Given the description of an element on the screen output the (x, y) to click on. 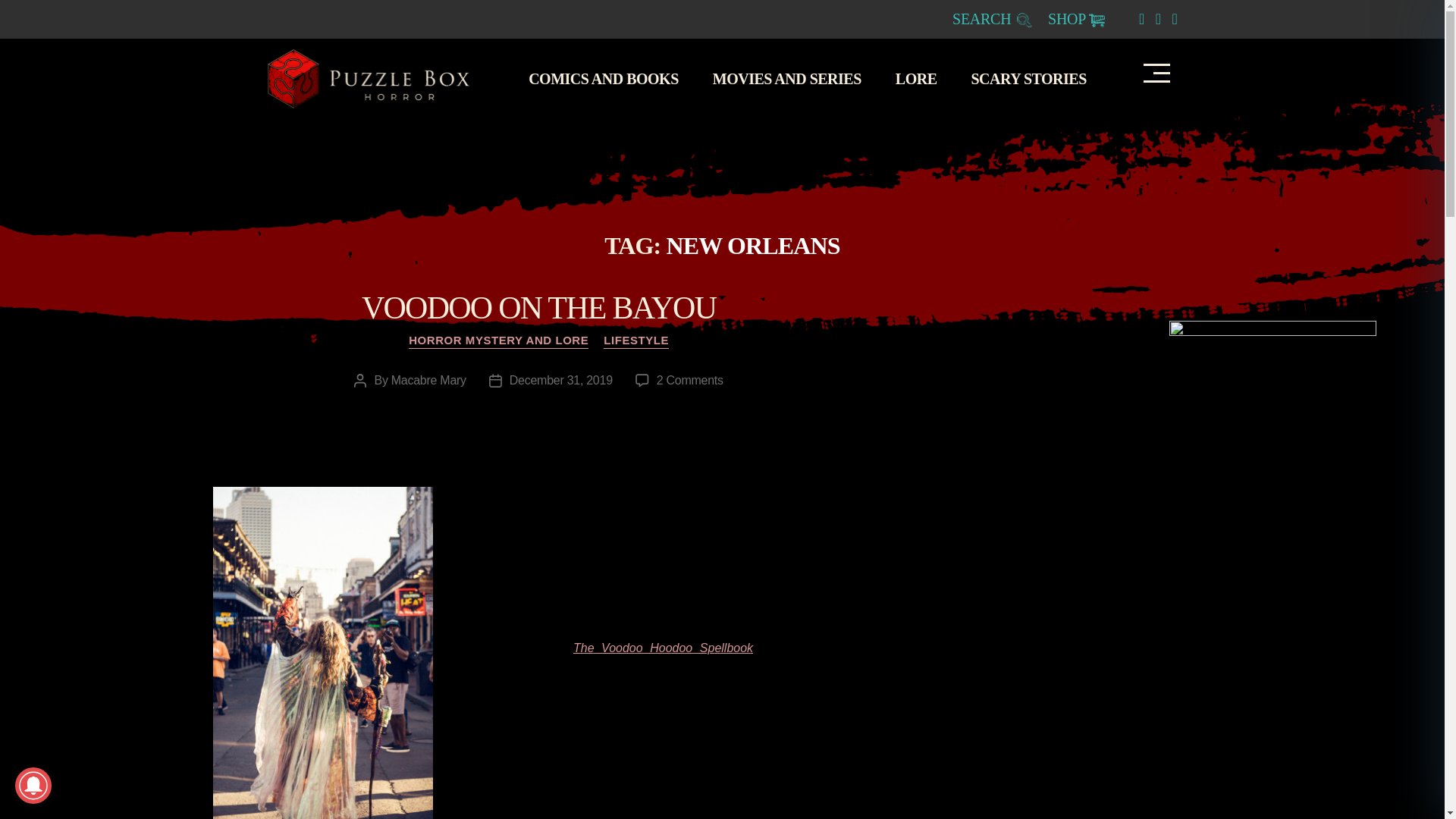
LORE (923, 78)
SEARCH (992, 18)
MOVIES AND SERIES (794, 78)
SCARY STORIES (1035, 78)
COMICS AND BOOKS (611, 78)
SHOP (1076, 18)
